Given the description of an element on the screen output the (x, y) to click on. 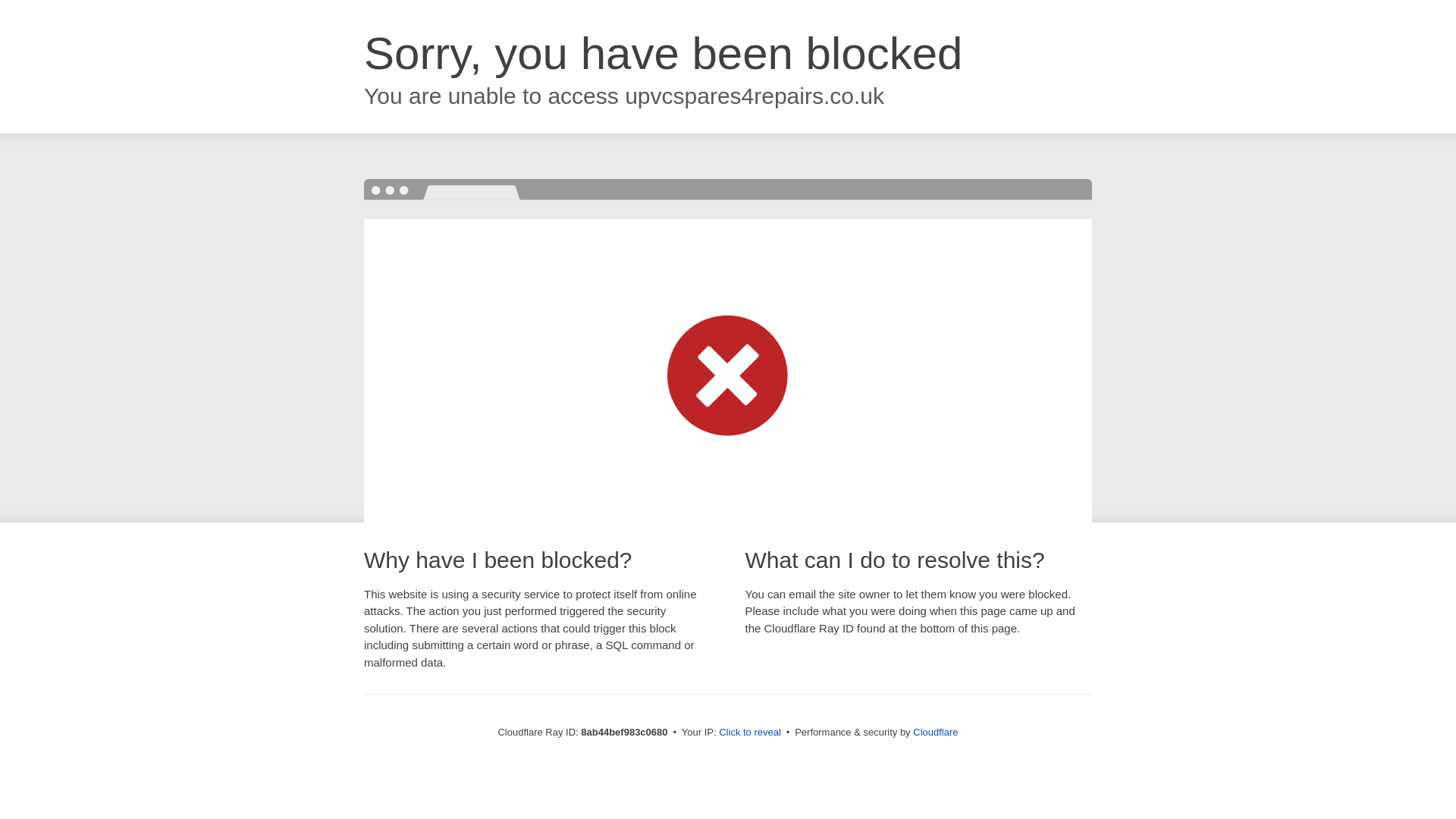
Cloudflare (935, 731)
Click to reveal (749, 732)
